Given the description of an element on the screen output the (x, y) to click on. 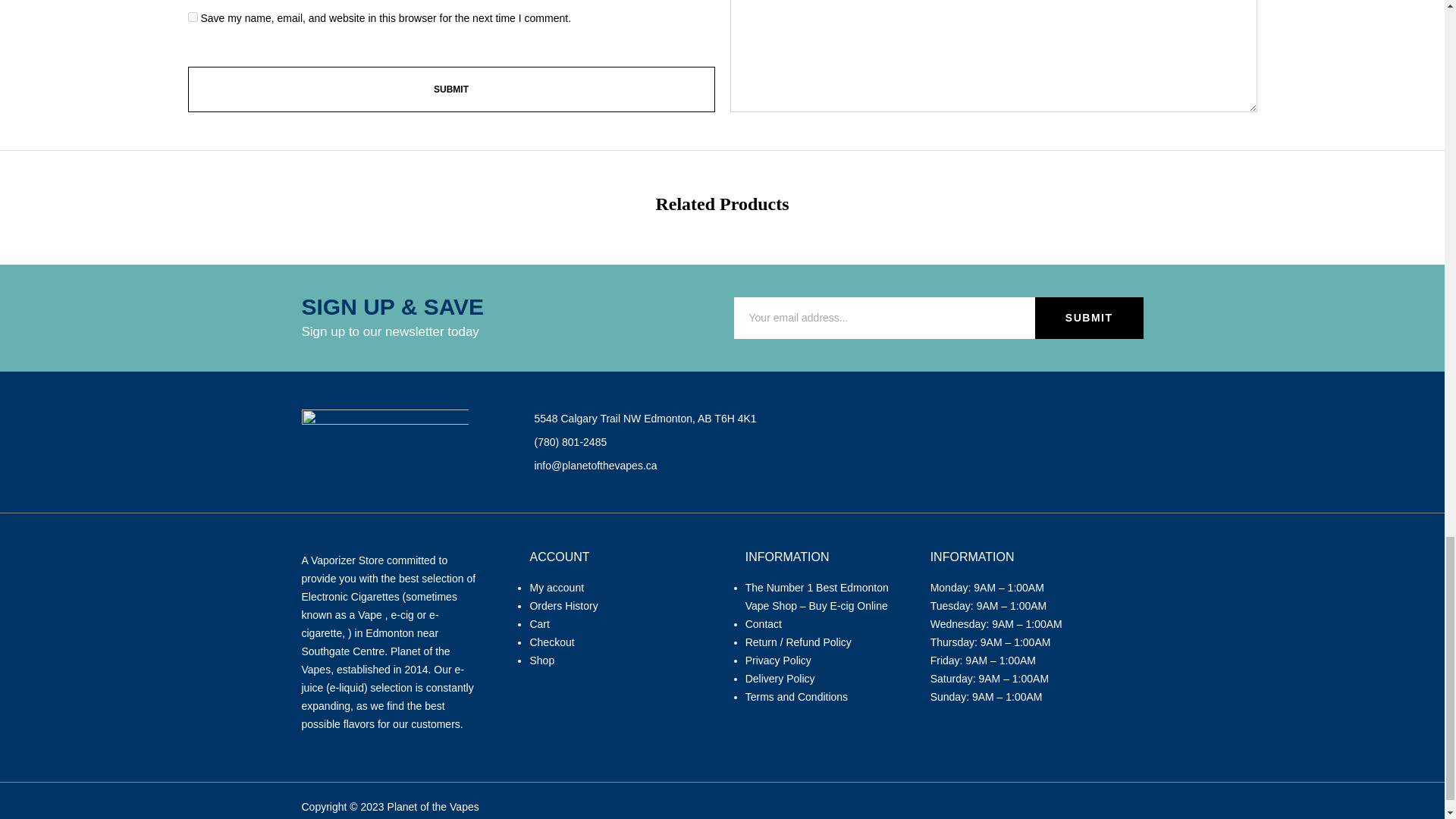
Submit (450, 89)
SUBMIT (1088, 318)
yes (192, 17)
